Given the description of an element on the screen output the (x, y) to click on. 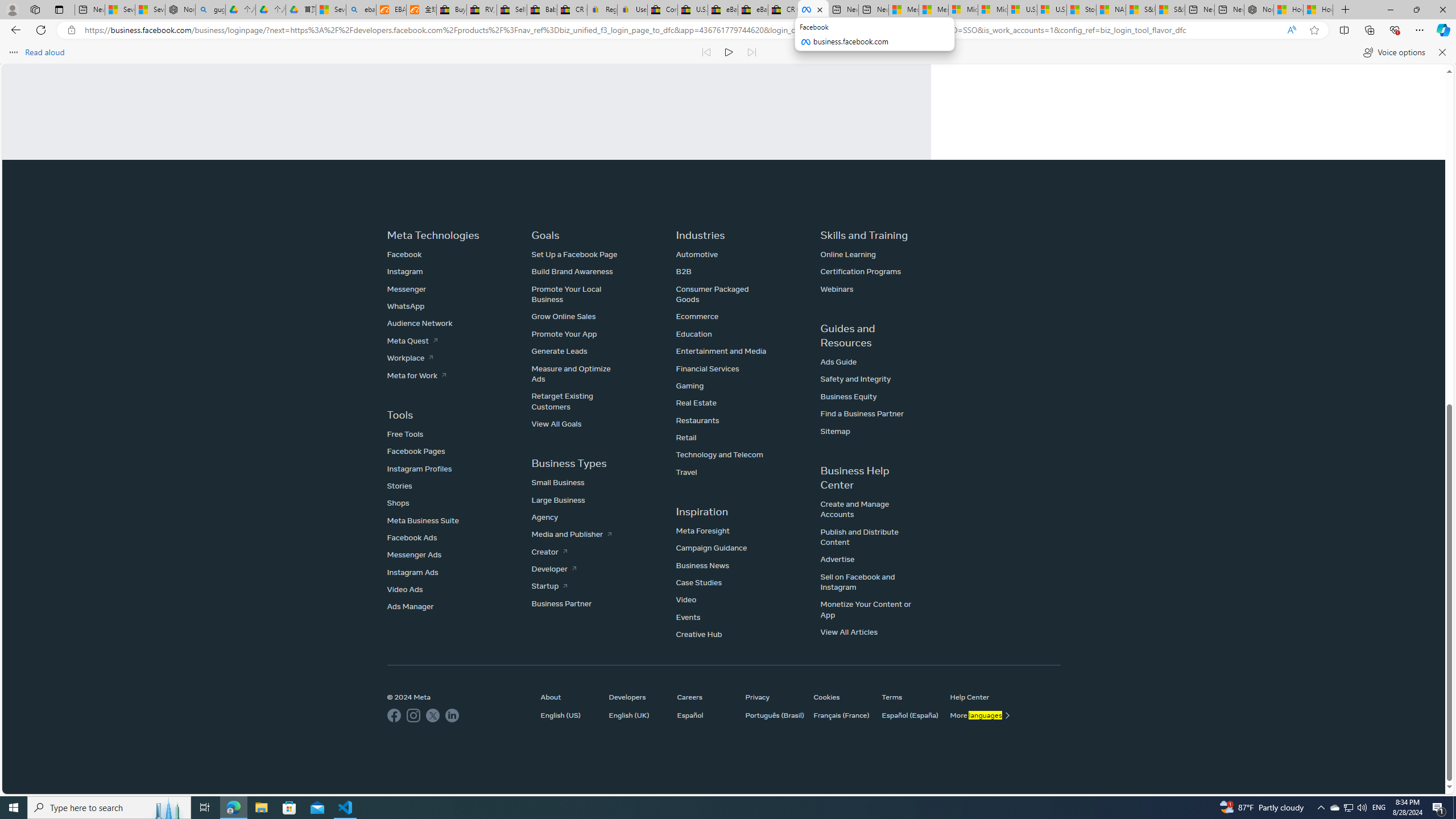
Campaign Guidance (710, 547)
Facebook Ads (411, 537)
Startup (549, 586)
Ads Guide (838, 361)
Set Up a Facebook Page (574, 253)
Large Business (558, 499)
Business Partner (561, 602)
